Given the description of an element on the screen output the (x, y) to click on. 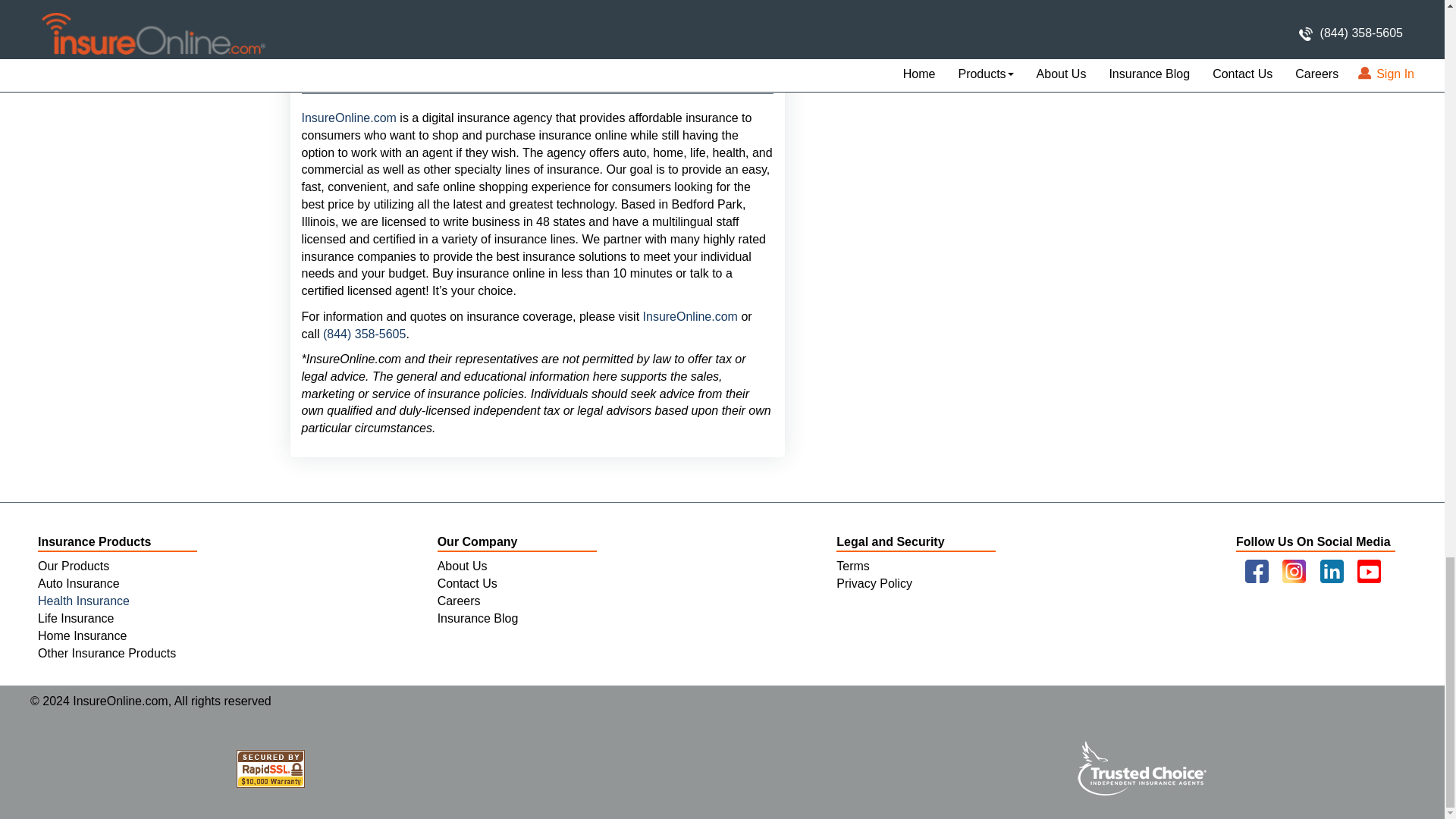
About Us (462, 565)
Privacy Policy (873, 583)
Other Insurance Products (106, 653)
Contact Us (467, 583)
Health Insurance (83, 600)
InsureOnline.com (688, 316)
Terms (852, 565)
Our Products (73, 565)
Careers (459, 600)
Auto Insurance (78, 583)
